Given the description of an element on the screen output the (x, y) to click on. 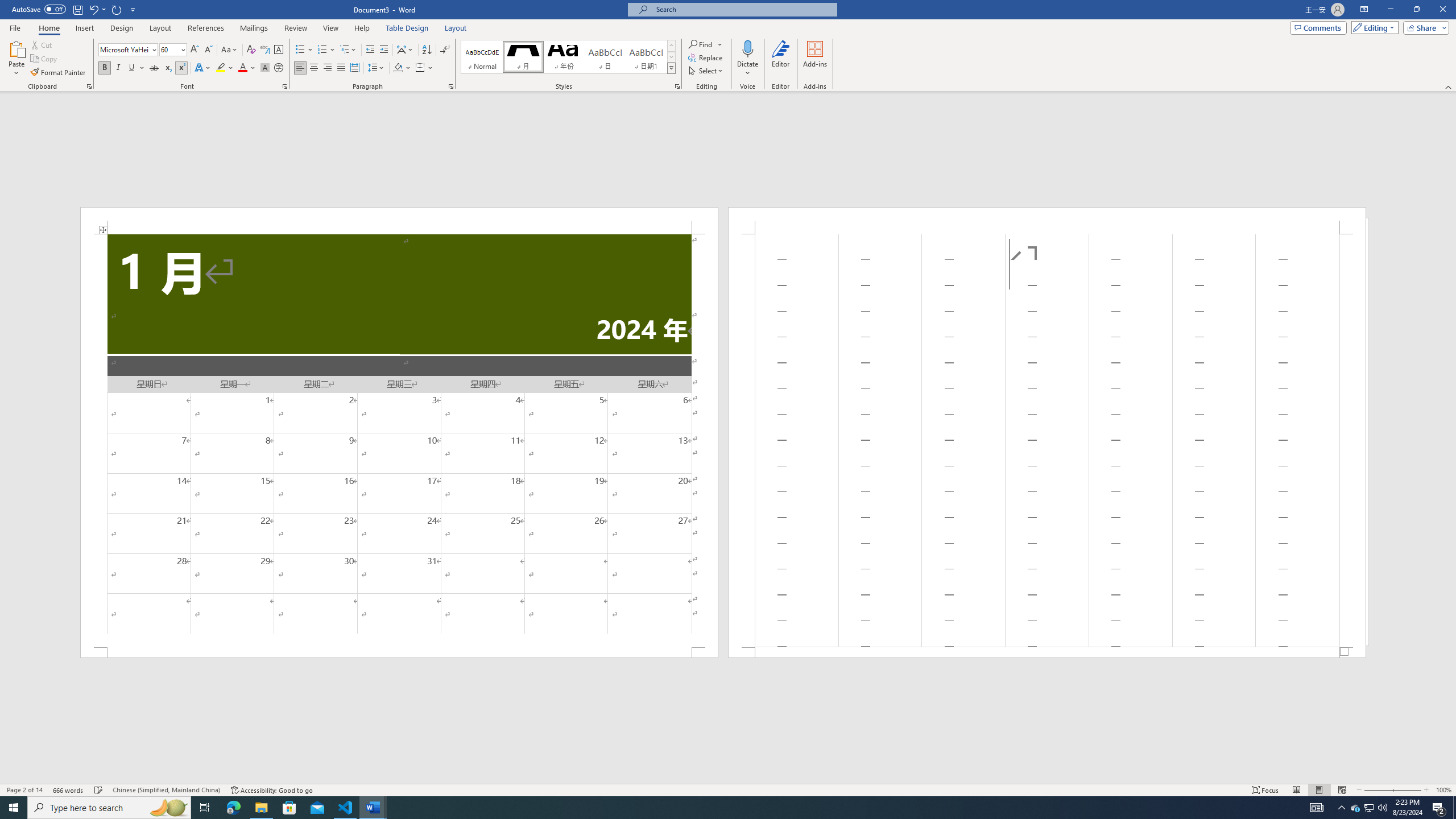
Italic (118, 67)
Font Size (172, 49)
Header -Section 1- (1046, 220)
Phonetic Guide... (264, 49)
Find (700, 44)
Copy (45, 58)
Page Number Page 2 of 14 (24, 790)
Table Design (407, 28)
References (205, 28)
Font (124, 49)
Zoom In (1407, 790)
Collapse the Ribbon (1448, 86)
